Given the description of an element on the screen output the (x, y) to click on. 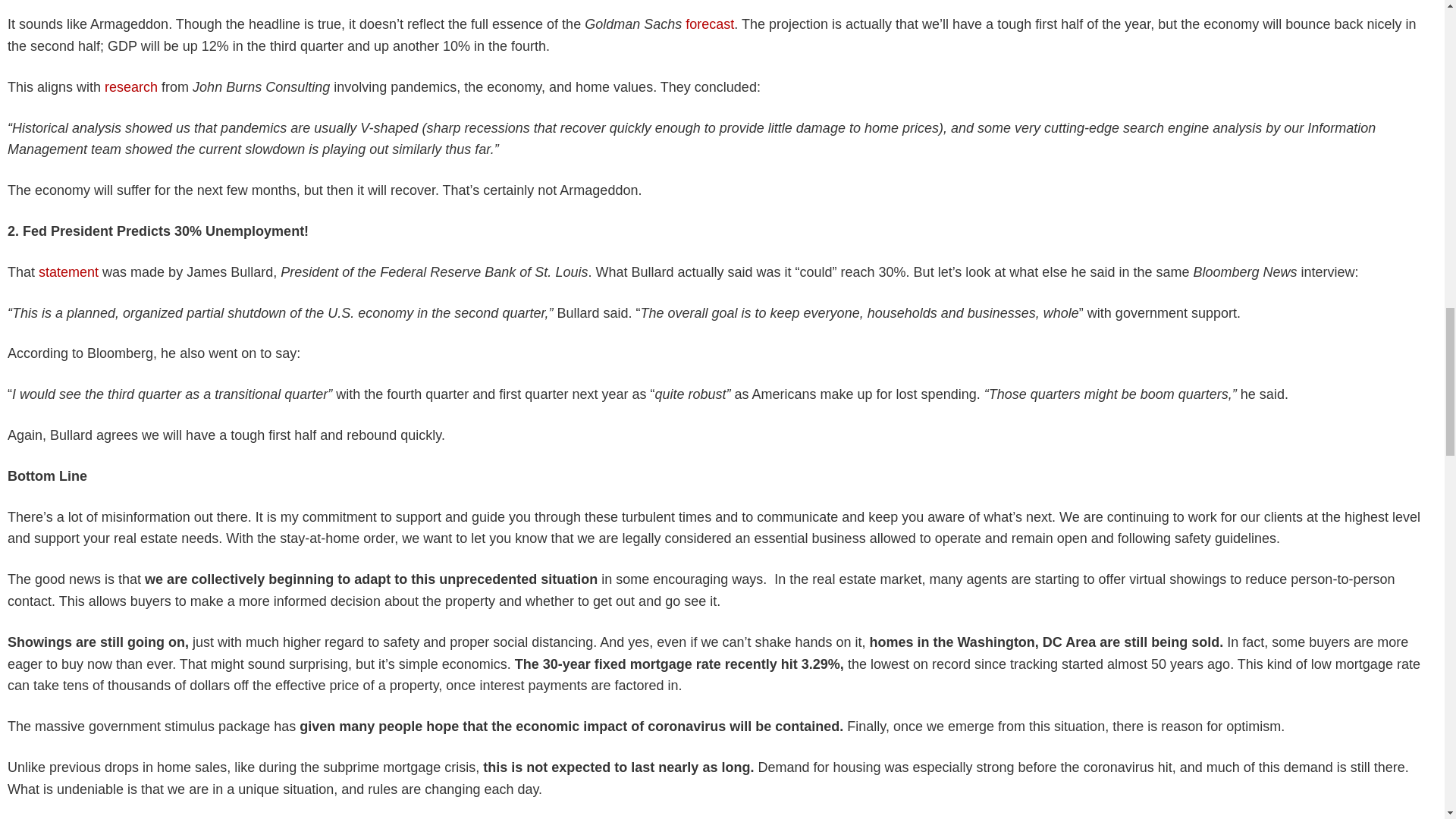
statement (67, 276)
forecast (709, 29)
research (129, 92)
